Given the description of an element on the screen output the (x, y) to click on. 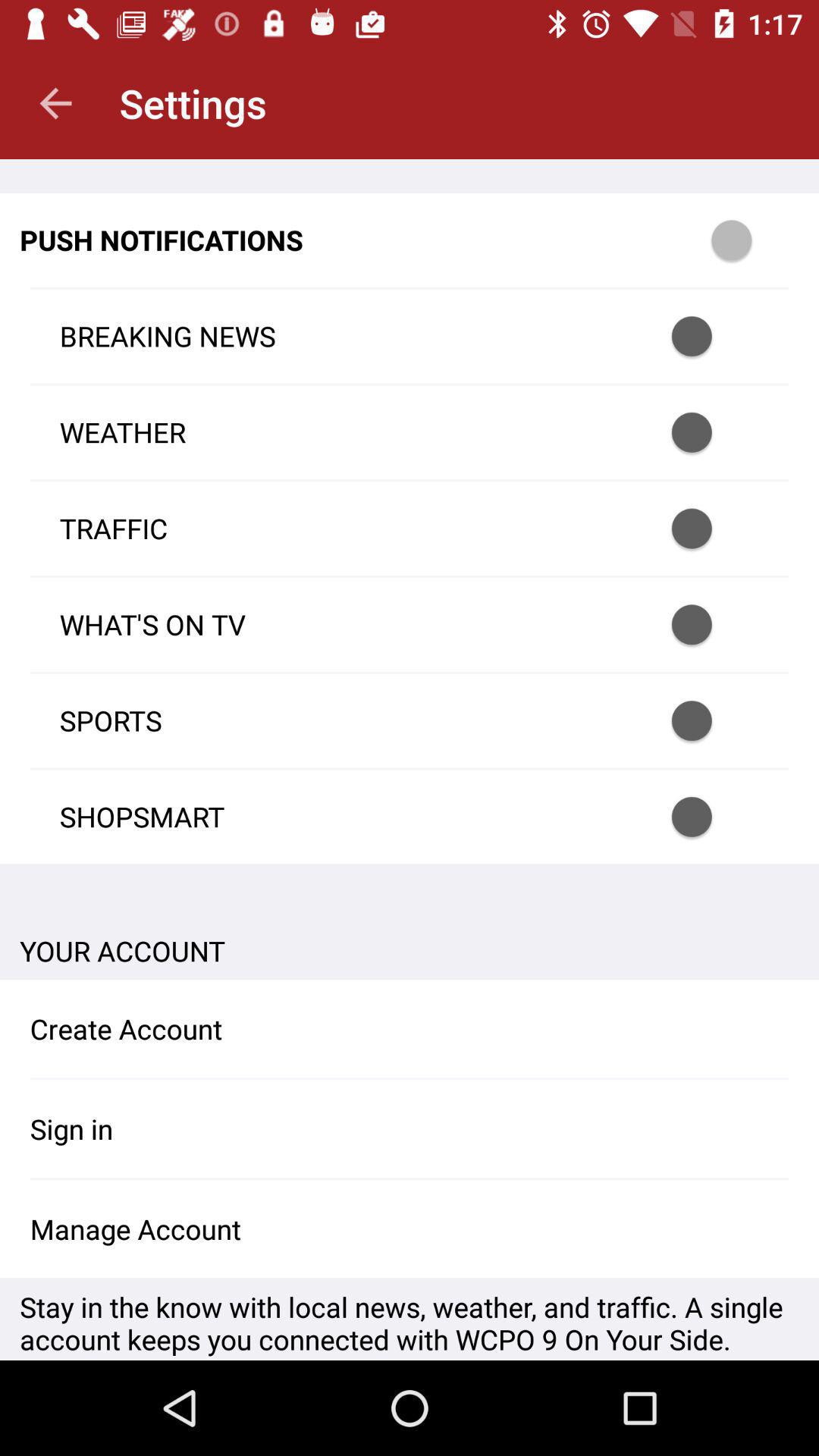
push notification for whats on tv (711, 624)
